Given the description of an element on the screen output the (x, y) to click on. 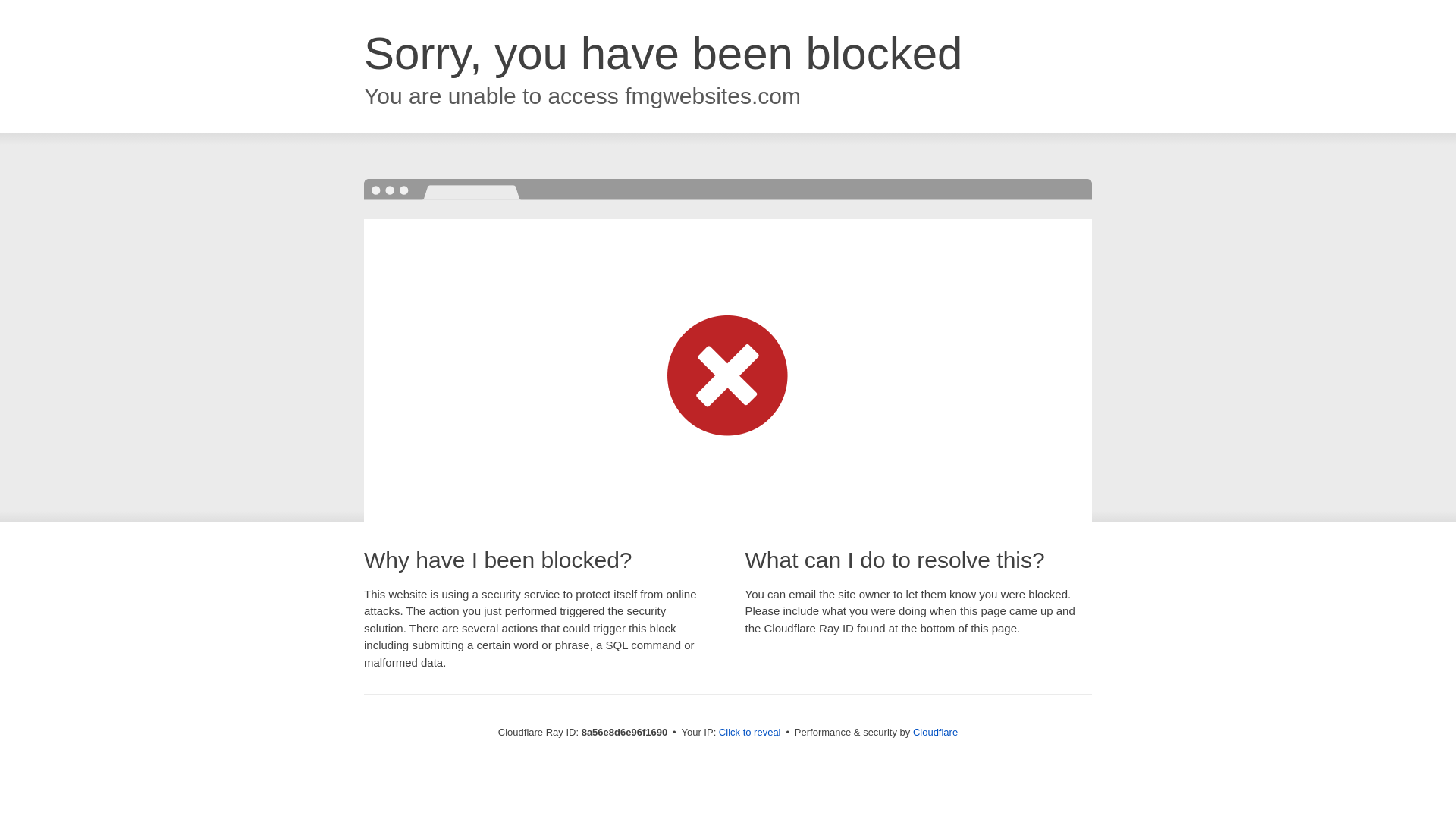
Cloudflare (935, 731)
Click to reveal (749, 732)
